Given the description of an element on the screen output the (x, y) to click on. 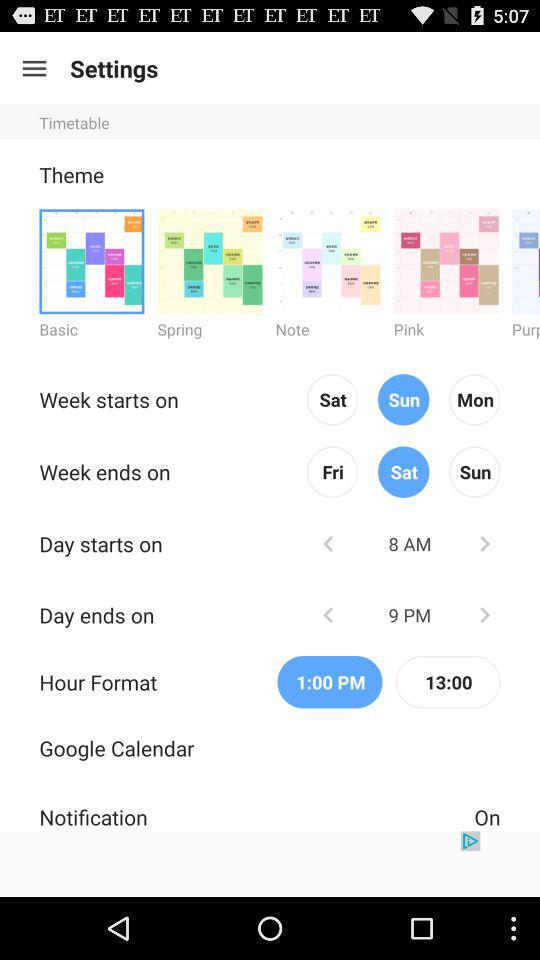
open menu (34, 68)
